Given the description of an element on the screen output the (x, y) to click on. 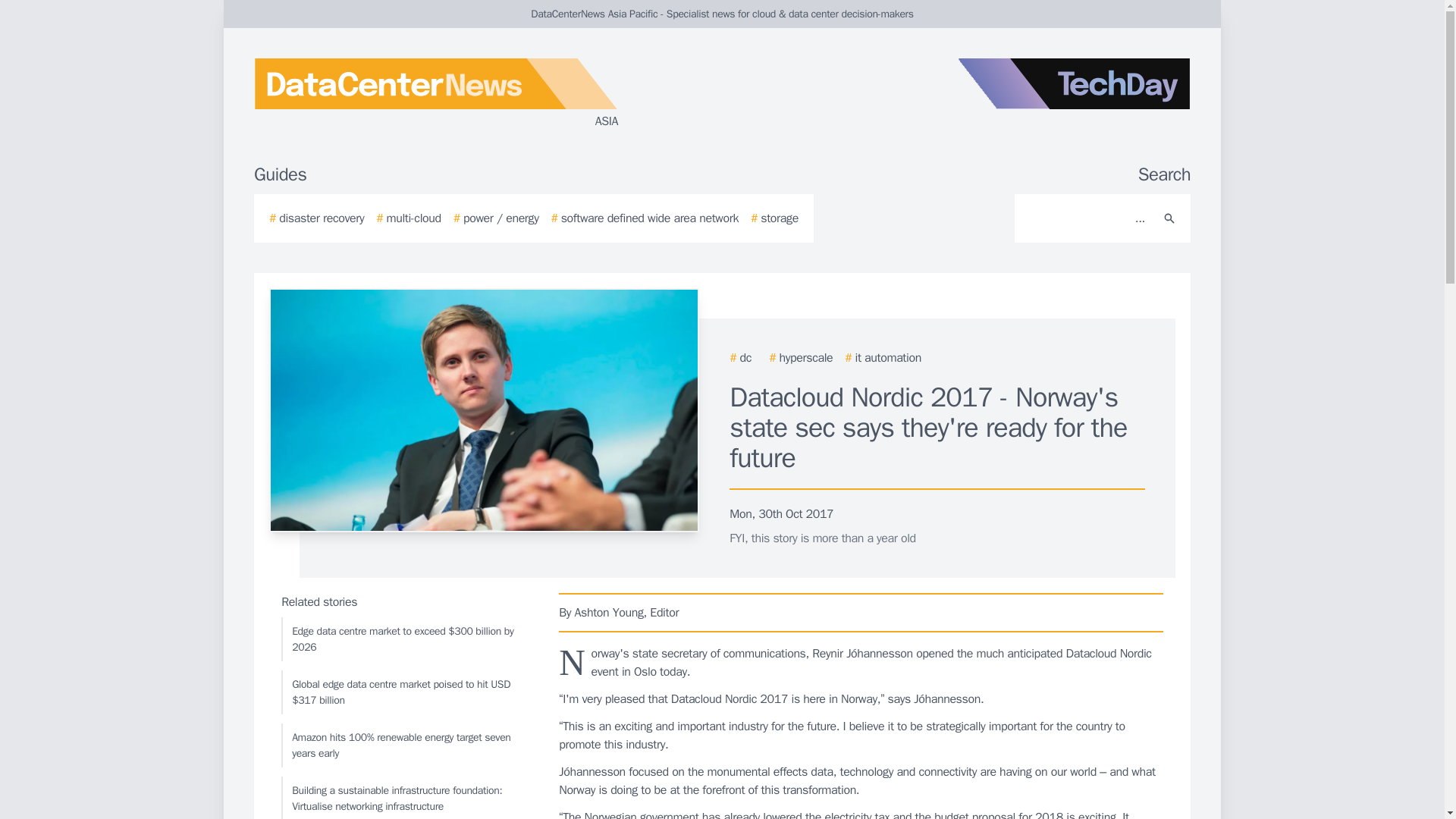
ASIA (435, 94)
By Ashton Young, Editor (861, 612)
